Given the description of an element on the screen output the (x, y) to click on. 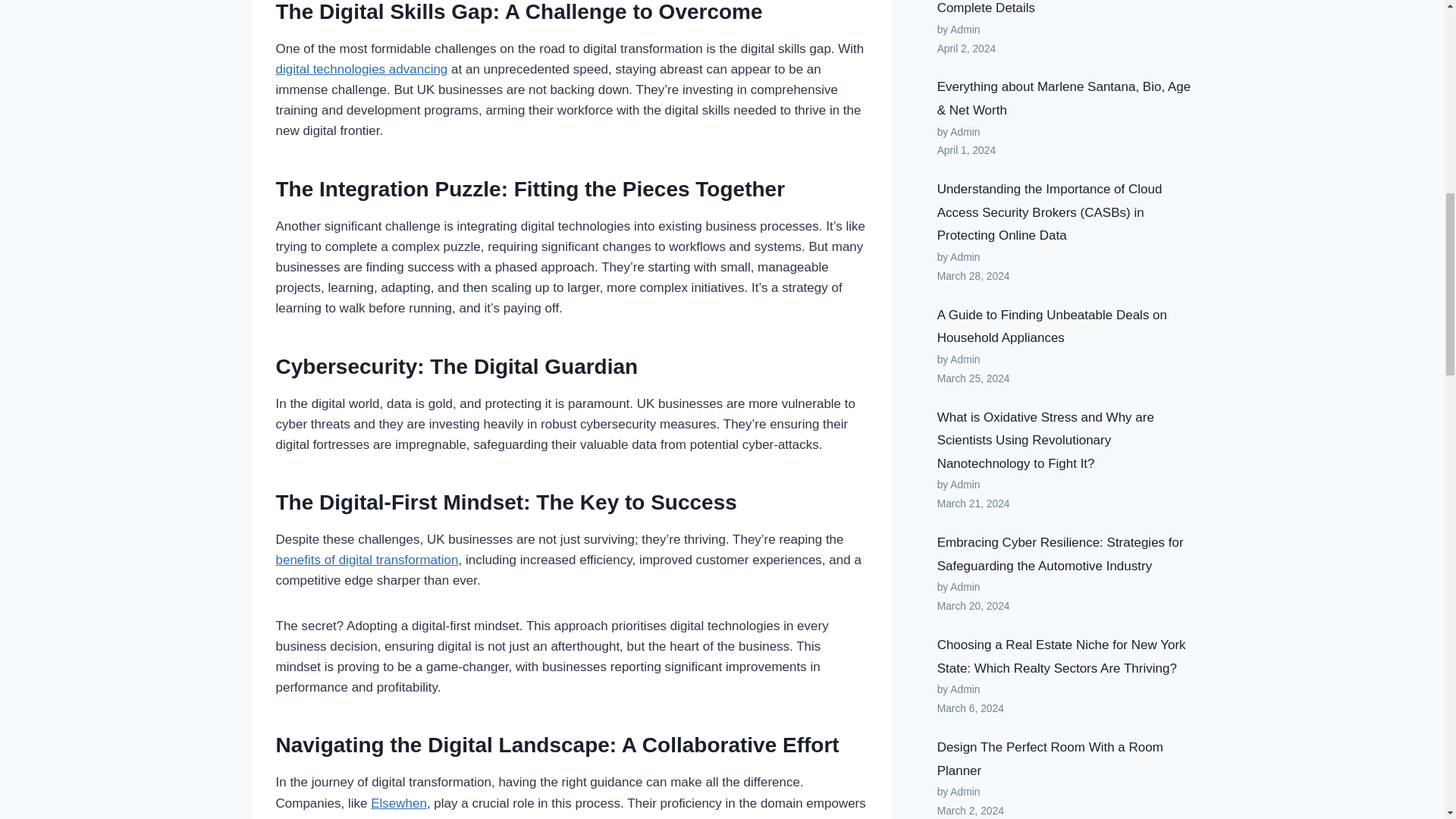
benefits of digital transformation (367, 559)
digital technologies advancing (362, 69)
Elsewhen (398, 803)
